Given the description of an element on the screen output the (x, y) to click on. 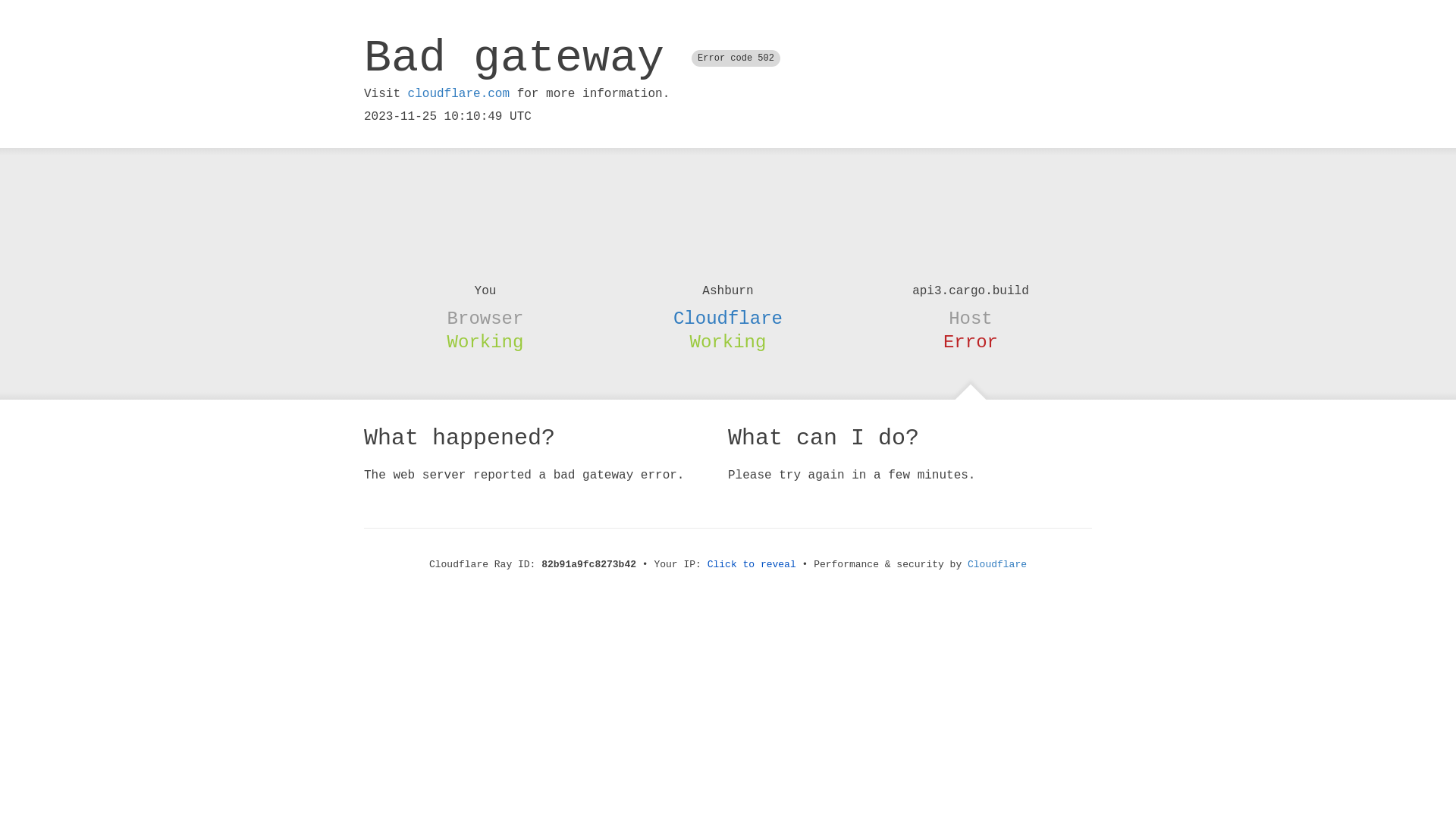
cloudflare.com Element type: text (458, 93)
Cloudflare Element type: text (727, 318)
Click to reveal Element type: text (751, 564)
Cloudflare Element type: text (996, 564)
